Given the description of an element on the screen output the (x, y) to click on. 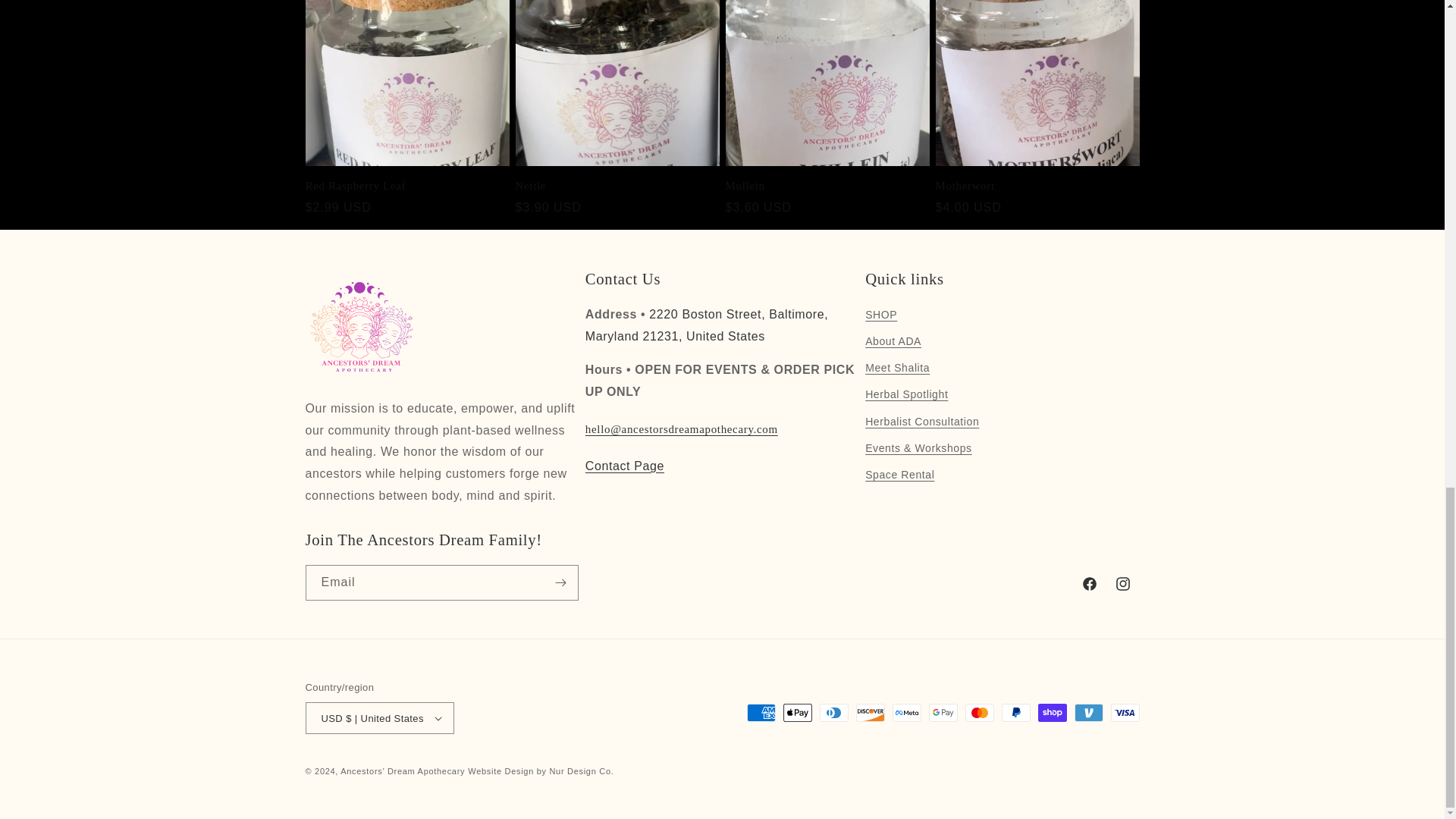
Contact (624, 465)
